Given the description of an element on the screen output the (x, y) to click on. 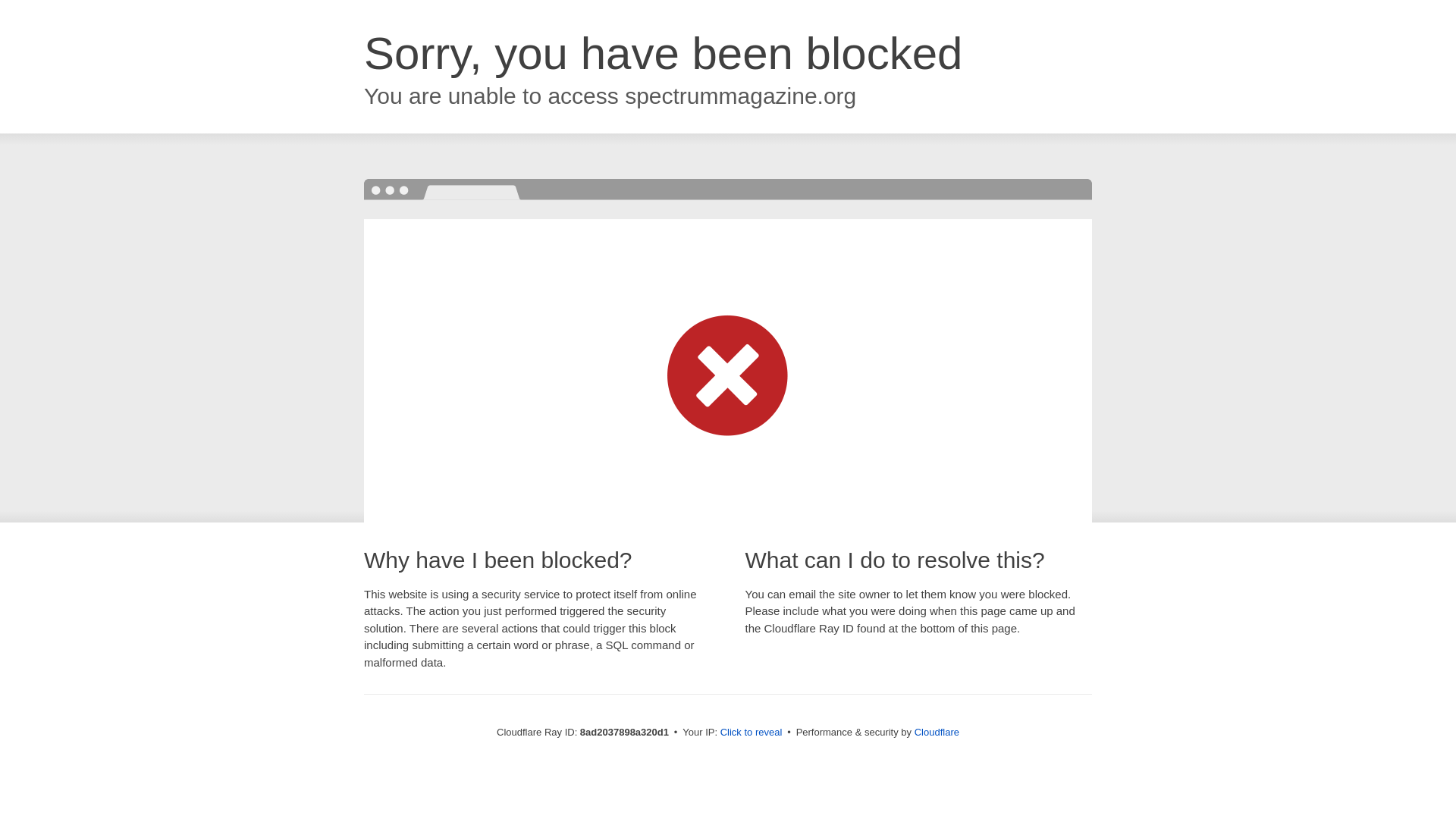
Cloudflare (936, 731)
Click to reveal (751, 732)
